Given the description of an element on the screen output the (x, y) to click on. 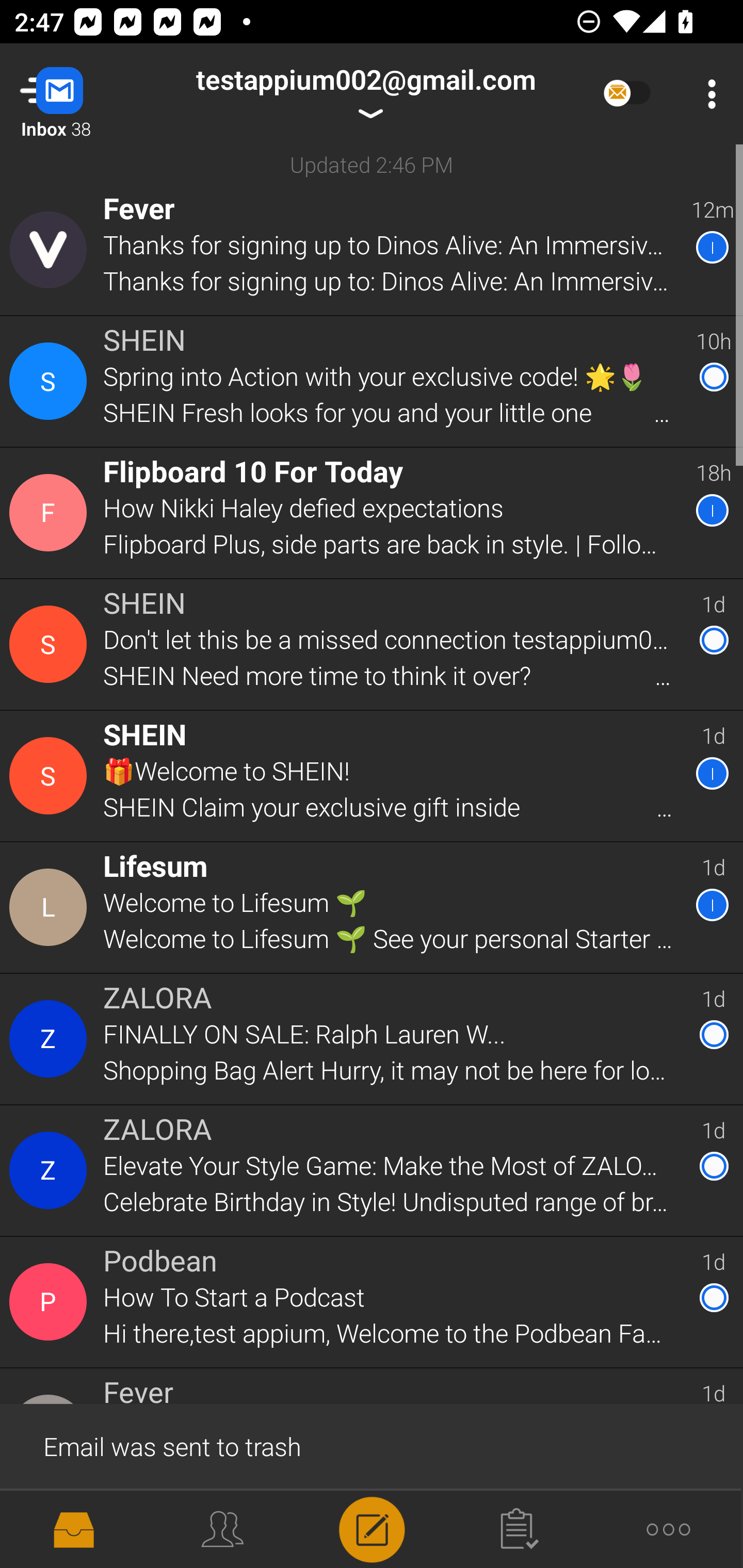
Navigate up (81, 93)
testappium002@gmail.com (365, 93)
More Options (706, 93)
Updated 2:46 PM (371, 164)
Contact Details (50, 250)
Contact Details (50, 381)
Contact Details (50, 513)
Contact Details (50, 644)
Contact Details (50, 776)
Contact Details (50, 907)
Contact Details (50, 1038)
Contact Details (50, 1170)
Contact Details (50, 1302)
Email was sent to trash (371, 1445)
Compose (371, 1528)
